Given the description of an element on the screen output the (x, y) to click on. 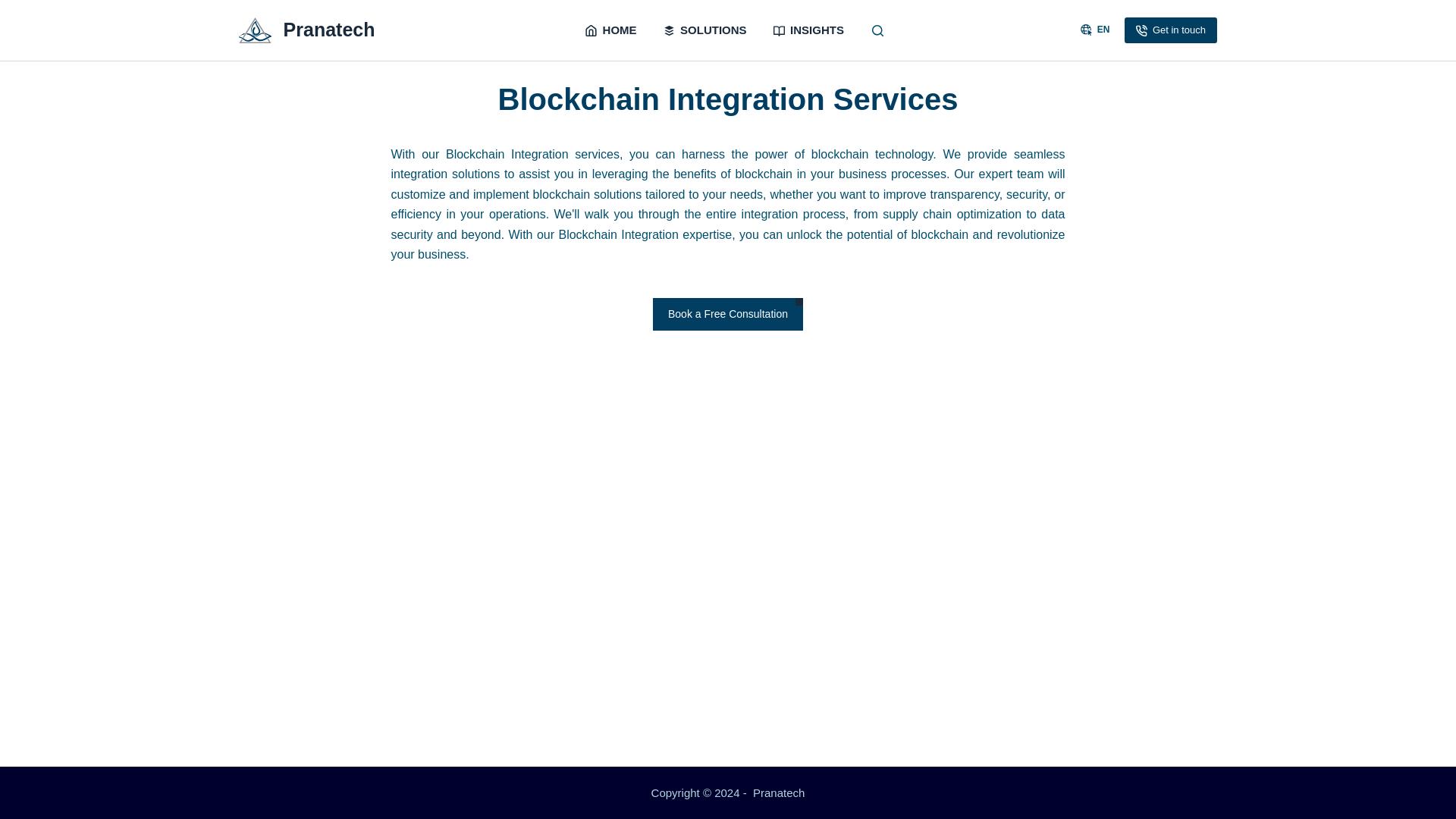
Pranatech (778, 791)
Pranatech (329, 29)
HOME (611, 30)
Get in touch (1170, 30)
Skip to content (15, 7)
SOLUTIONS (704, 30)
INSIGHTS (808, 30)
Book a Free Consultation (727, 314)
